Given the description of an element on the screen output the (x, y) to click on. 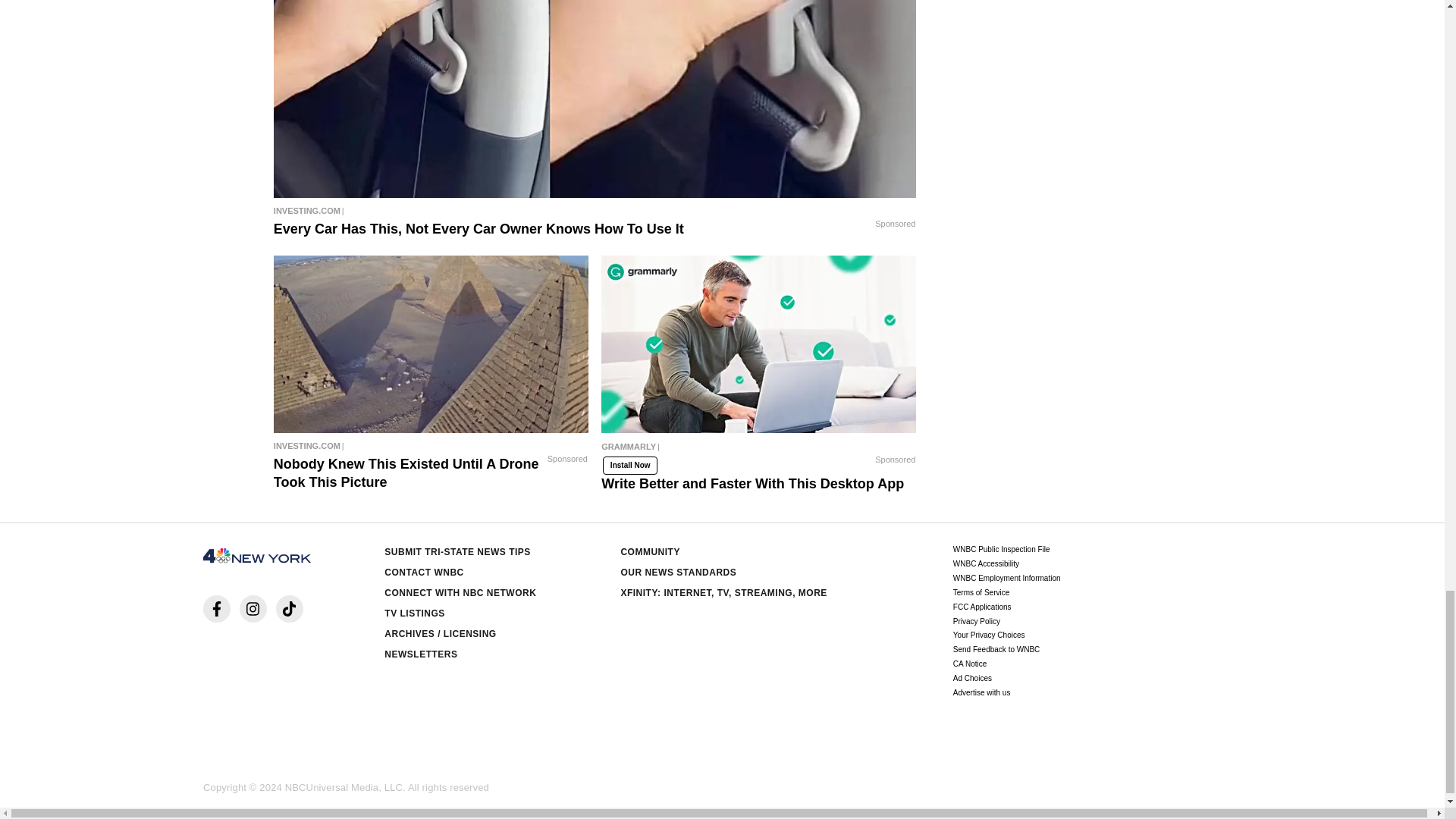
Write Better and Faster With This Desktop App (758, 450)
Write Better and Faster With This Desktop App (758, 344)
Every Car Has This, Not Every Car Owner Knows How To Use It (595, 210)
Nobody Knew This Existed Until A Drone Took This Picture (430, 344)
Nobody Knew This Existed Until A Drone Took This Picture (430, 445)
Every Car Has This, Not Every Car Owner Knows How To Use It (595, 99)
